Given the description of an element on the screen output the (x, y) to click on. 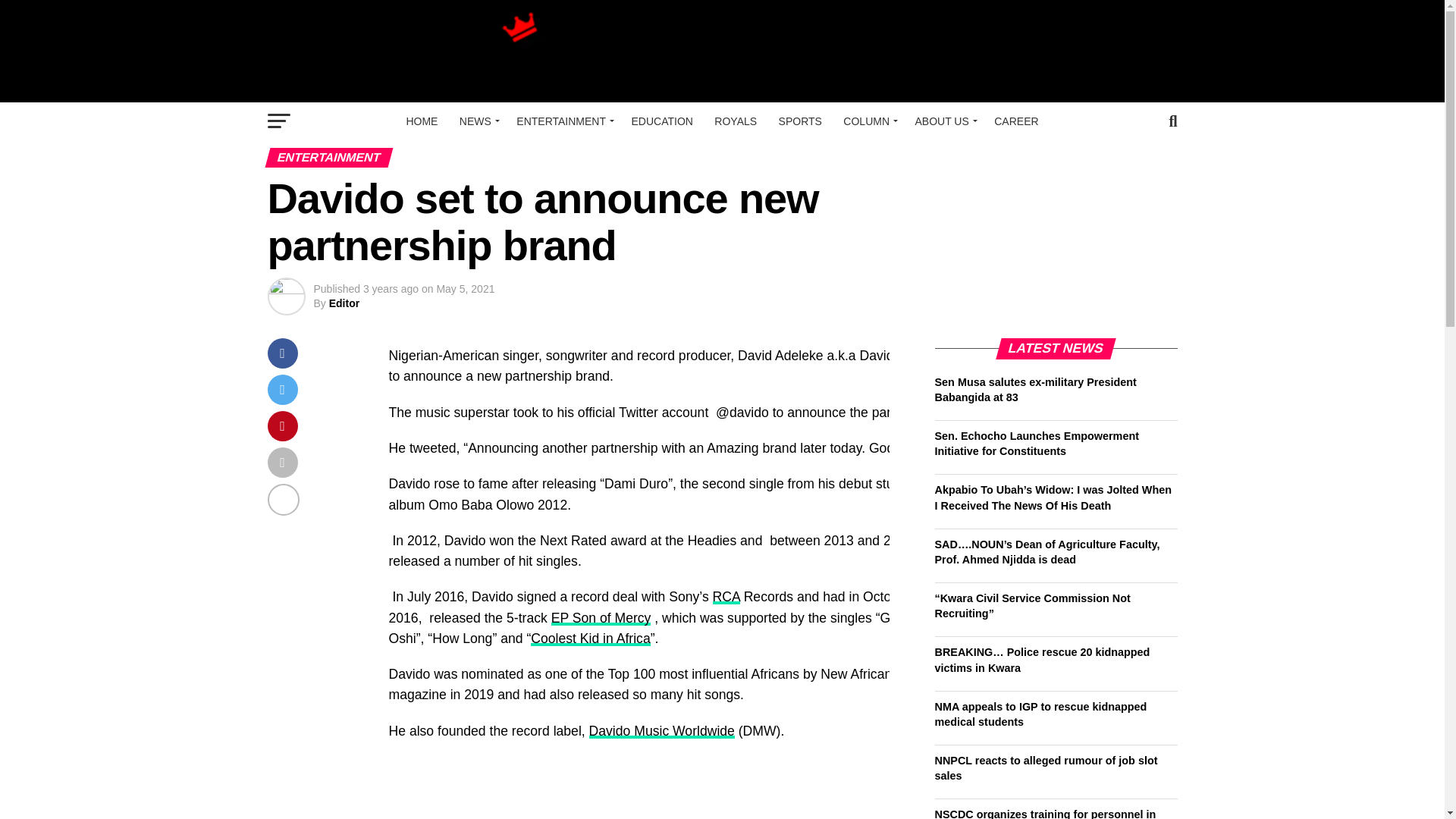
Posts by Editor (344, 303)
HOME (421, 121)
NEWS (476, 121)
